Given the description of an element on the screen output the (x, y) to click on. 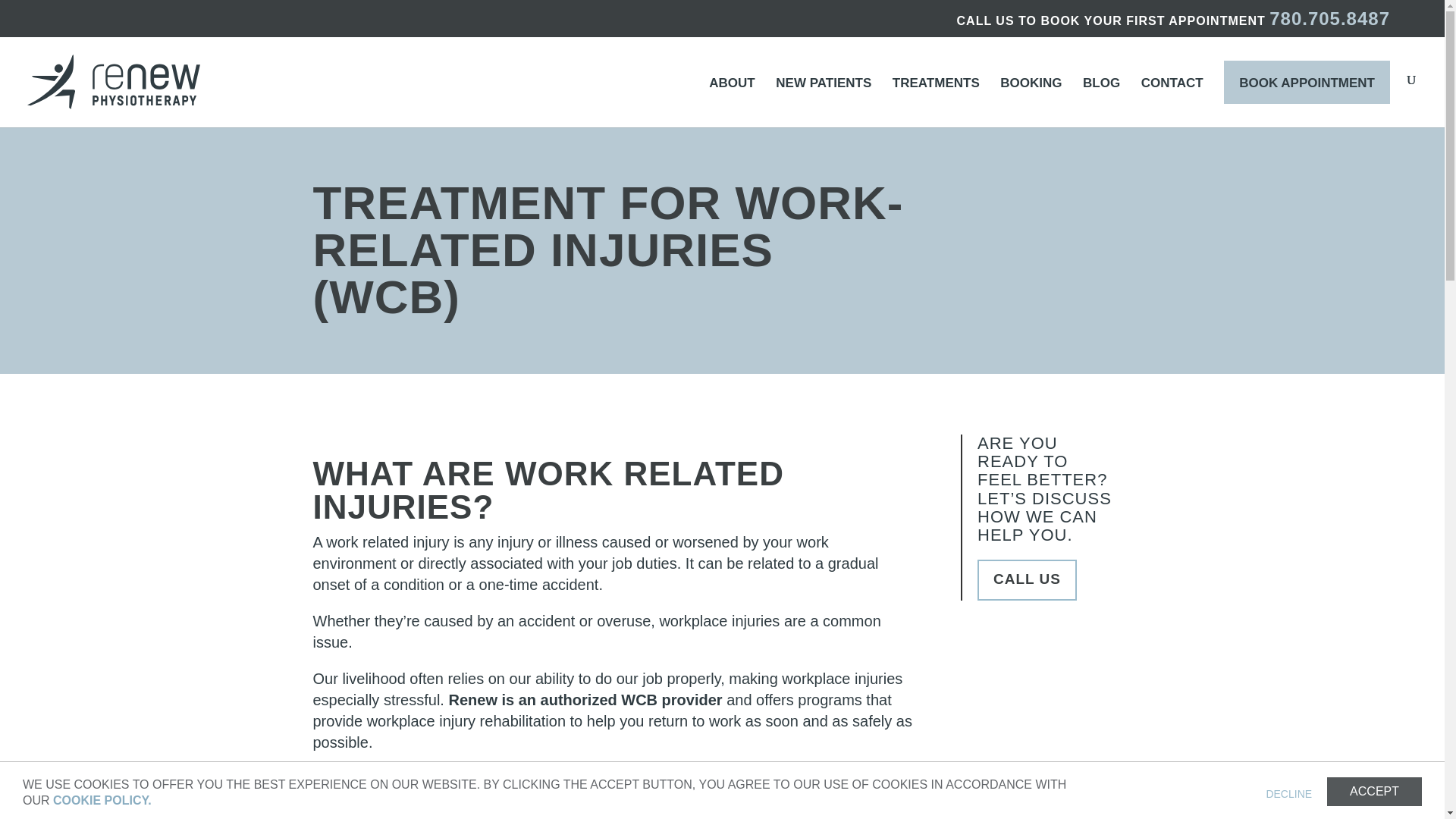
780.705.8487 (1329, 18)
BOOK APPOINTMENT (1307, 82)
CONTACT (1172, 102)
TREATMENTS (935, 102)
NEW PATIENTS (823, 102)
ABOUT (731, 102)
BOOKING (1030, 102)
CALL US (1026, 579)
